Given the description of an element on the screen output the (x, y) to click on. 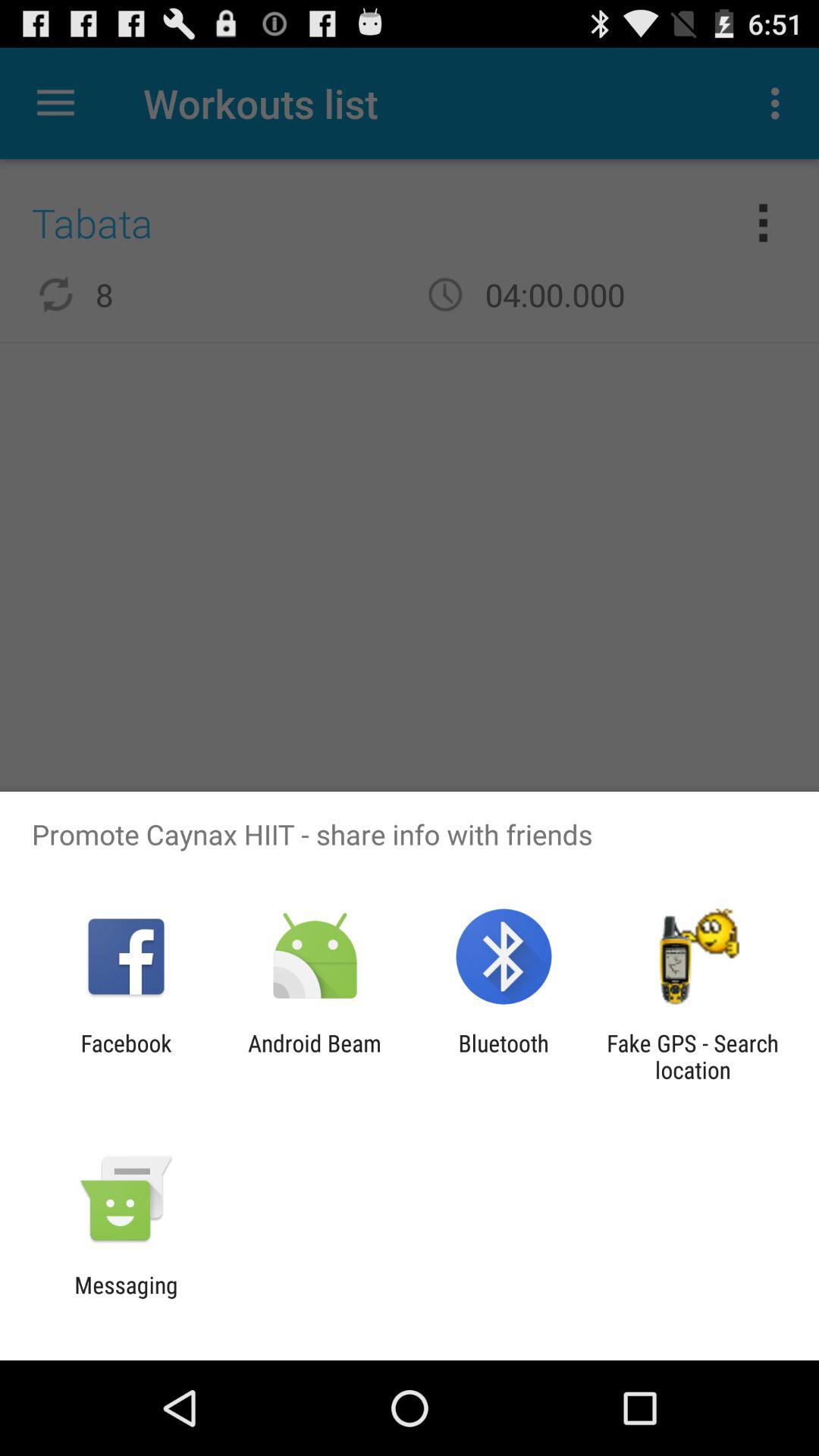
select icon to the left of the fake gps search item (503, 1056)
